Given the description of an element on the screen output the (x, y) to click on. 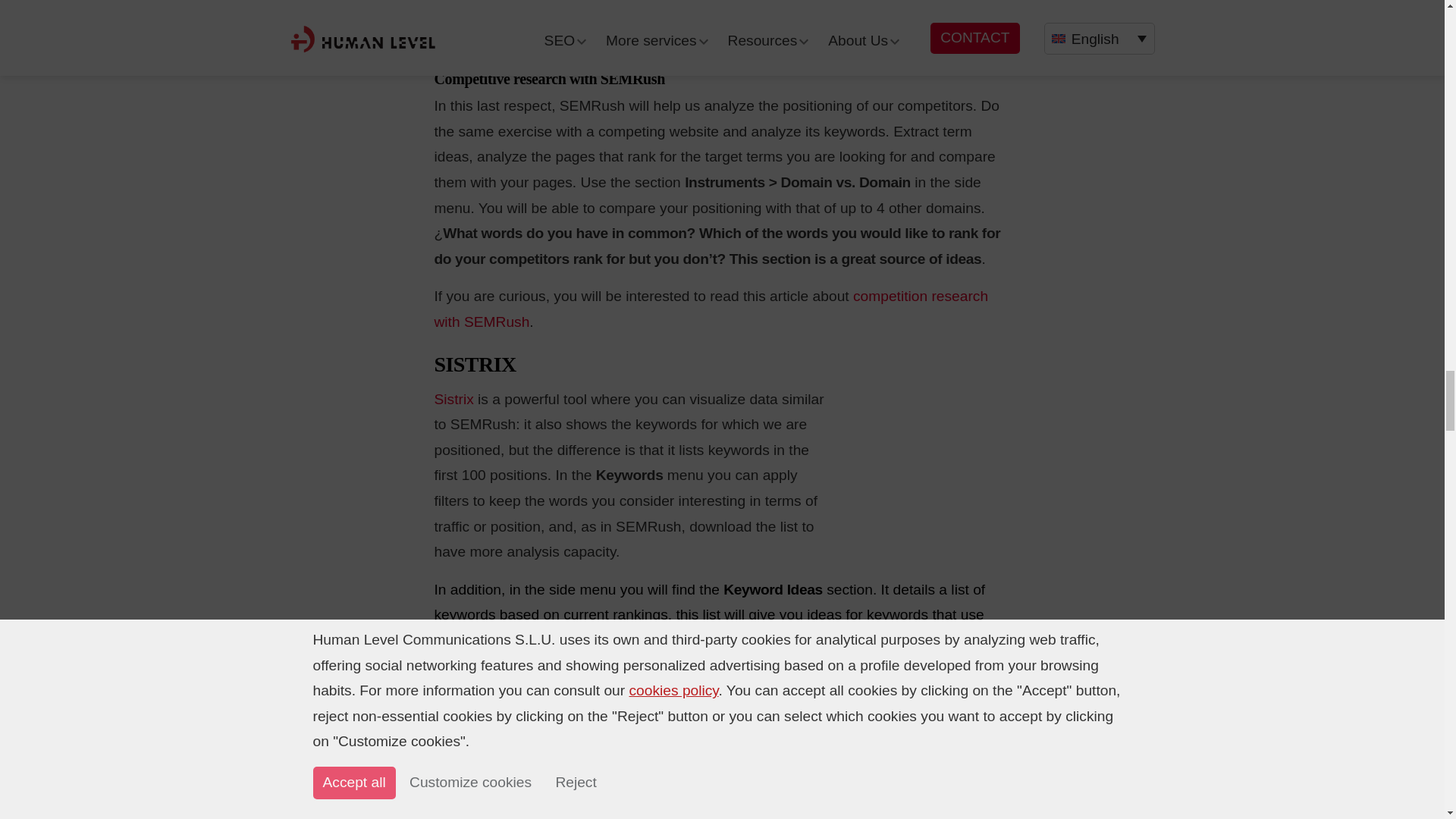
Go to the article about SEMRush competition study (710, 309)
Go to the SISTRIX tool (453, 399)
